Given the description of an element on the screen output the (x, y) to click on. 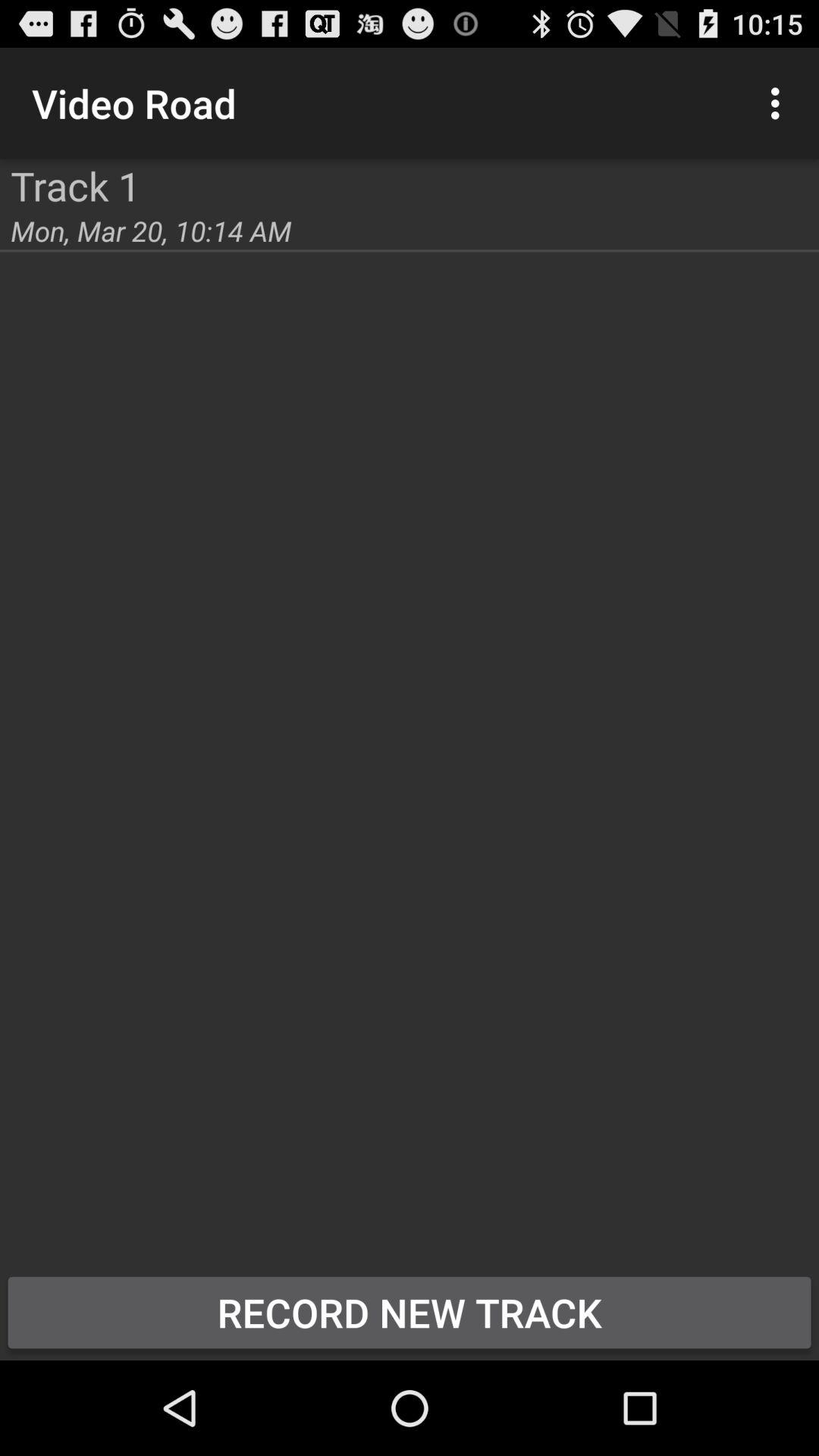
turn off the app above mon mar 20 icon (75, 185)
